Given the description of an element on the screen output the (x, y) to click on. 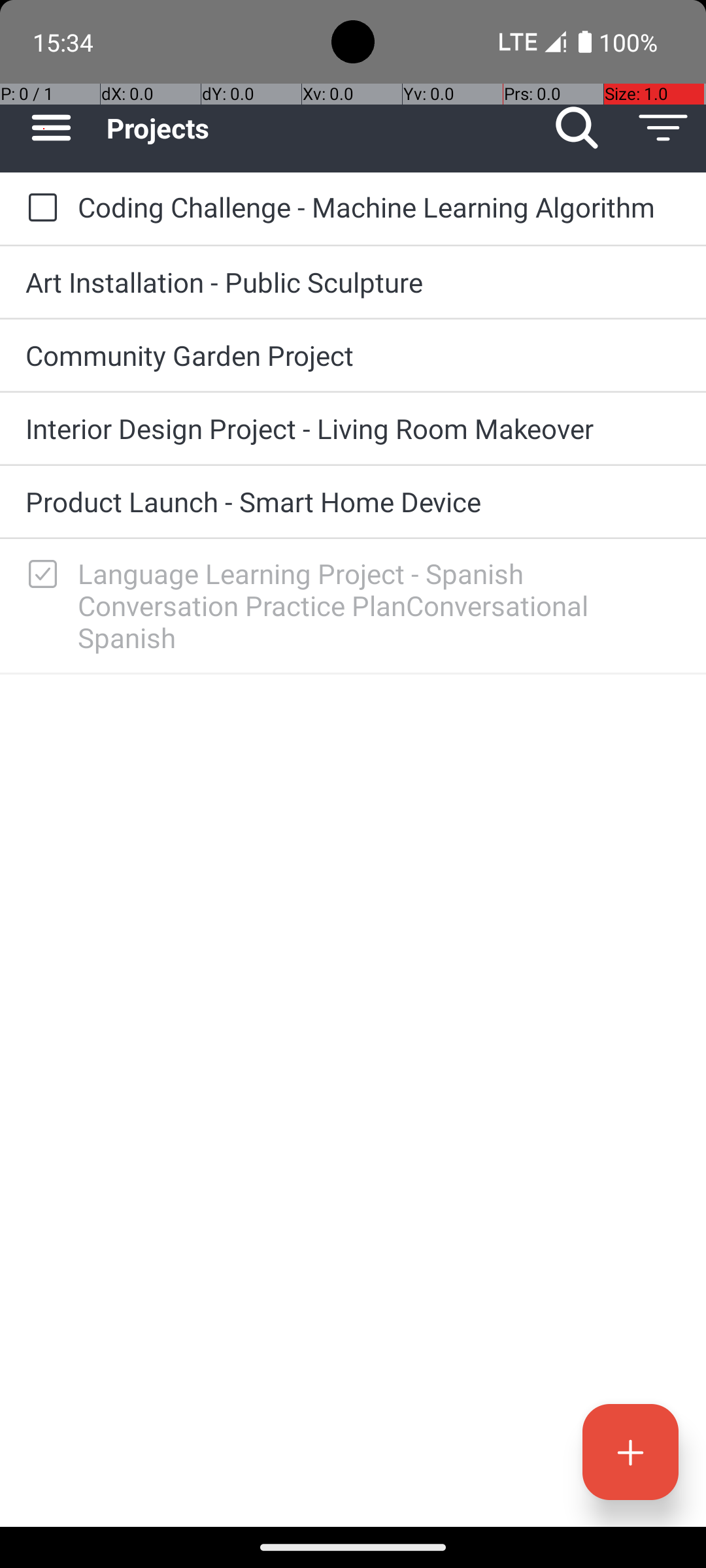
to-do: Coding Challenge - Machine Learning Algorithm Element type: android.widget.CheckBox (38, 208)
Art Installation - Public Sculpture Element type: android.widget.TextView (352, 281)
Community Garden Project Element type: android.widget.TextView (352, 354)
Interior Design Project - Living Room Makeover Element type: android.widget.TextView (352, 427)
Product Launch - Smart Home Device Element type: android.widget.TextView (352, 501)
to-do: Language Learning Project - Spanish Conversation Practice PlanConversational Spanish Element type: android.widget.CheckBox (38, 574)
Language Learning Project - Spanish Conversation Practice PlanConversational Spanish Element type: android.widget.TextView (378, 604)
